Given the description of an element on the screen output the (x, y) to click on. 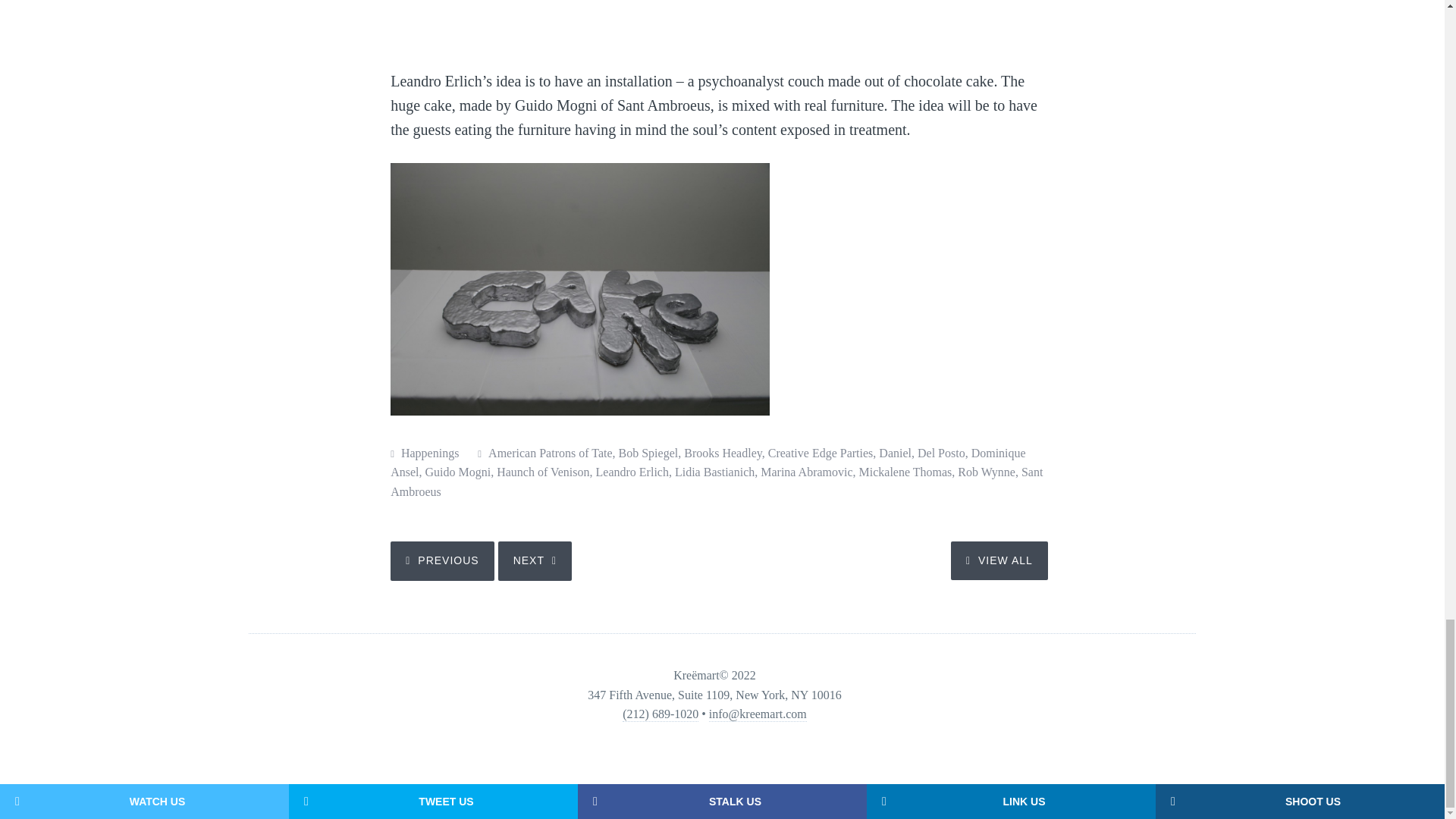
Bob Spiegel (648, 452)
Happenings (429, 452)
Dominique Ansel (707, 462)
Rob Wynne (986, 472)
Del Posto (941, 452)
American Patrons of Tate (549, 452)
Mickalene Thomas (905, 472)
Brooks Headley (722, 452)
Guido Mogni (457, 472)
Leandro Erlich (631, 472)
